Given the description of an element on the screen output the (x, y) to click on. 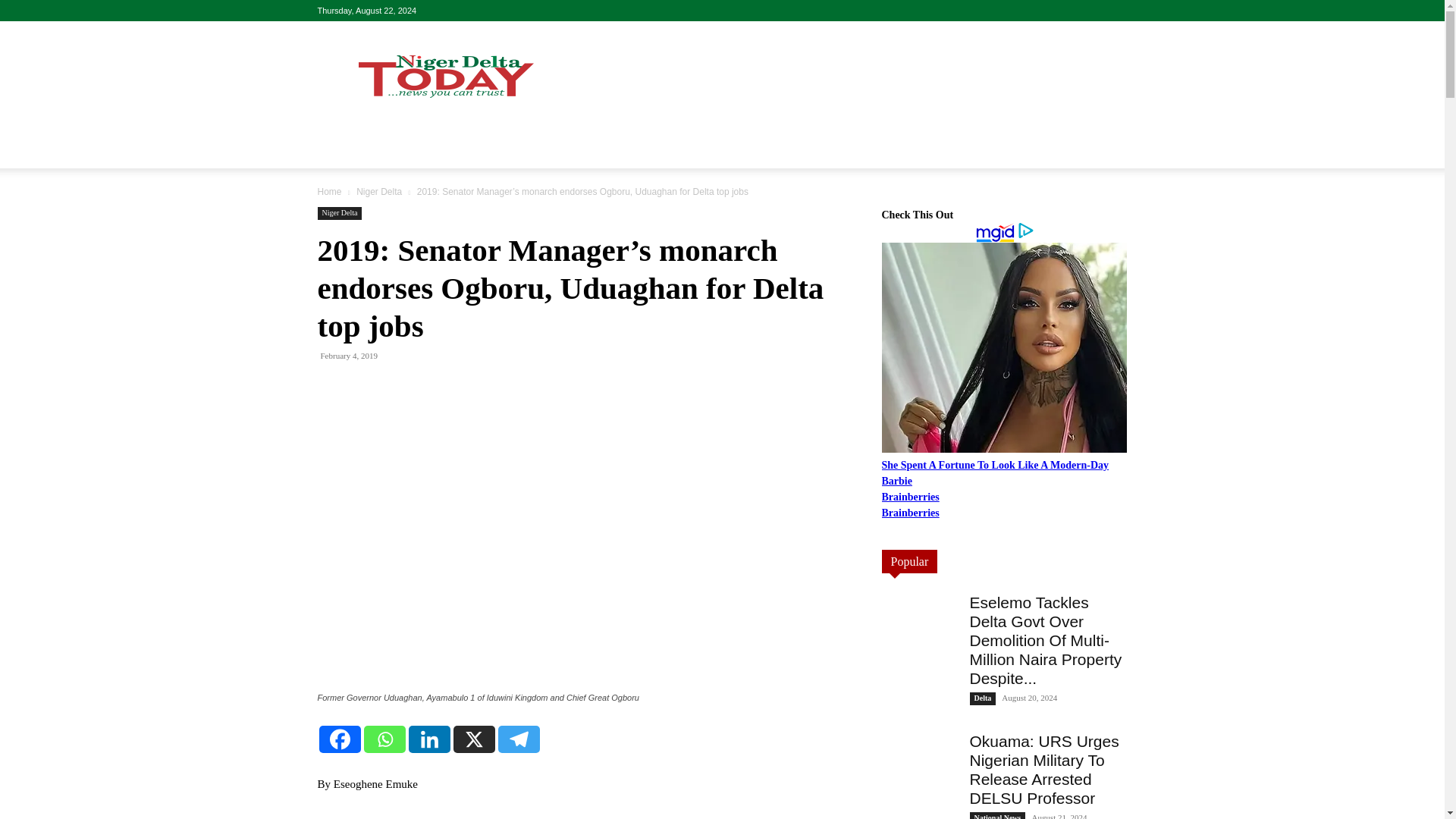
Facebook (338, 738)
POLITICS (620, 149)
Linkedin (428, 738)
Telegram (517, 738)
X (473, 738)
Whatsapp (385, 738)
NATIONAL NEWS (529, 149)
View all posts in Niger Delta (378, 191)
NIGER DELTA (421, 149)
HOME (343, 149)
